Given the description of an element on the screen output the (x, y) to click on. 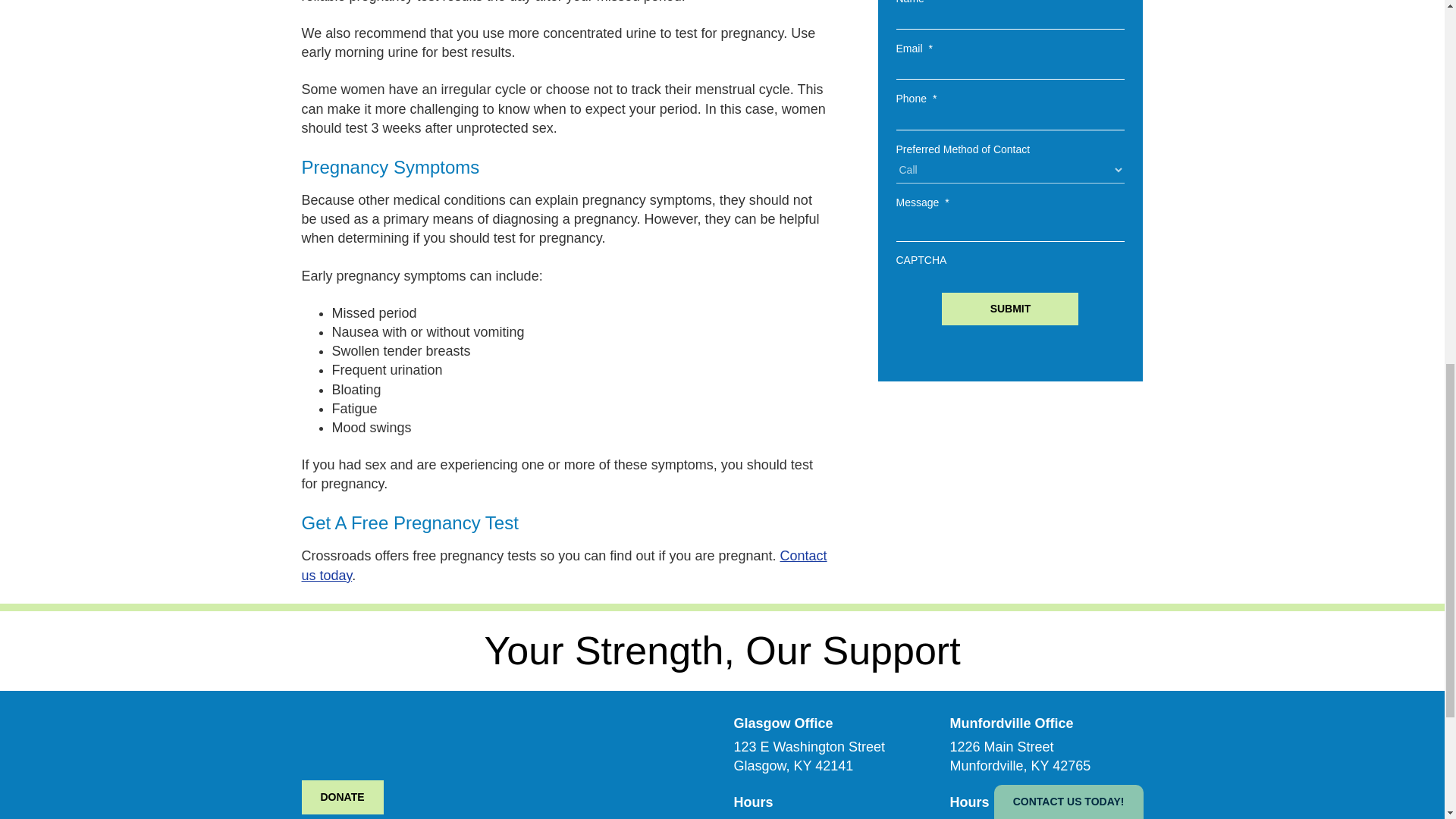
Submit (1010, 308)
Contact us today (564, 564)
Submit (1010, 308)
DONATE (342, 797)
